Given the description of an element on the screen output the (x, y) to click on. 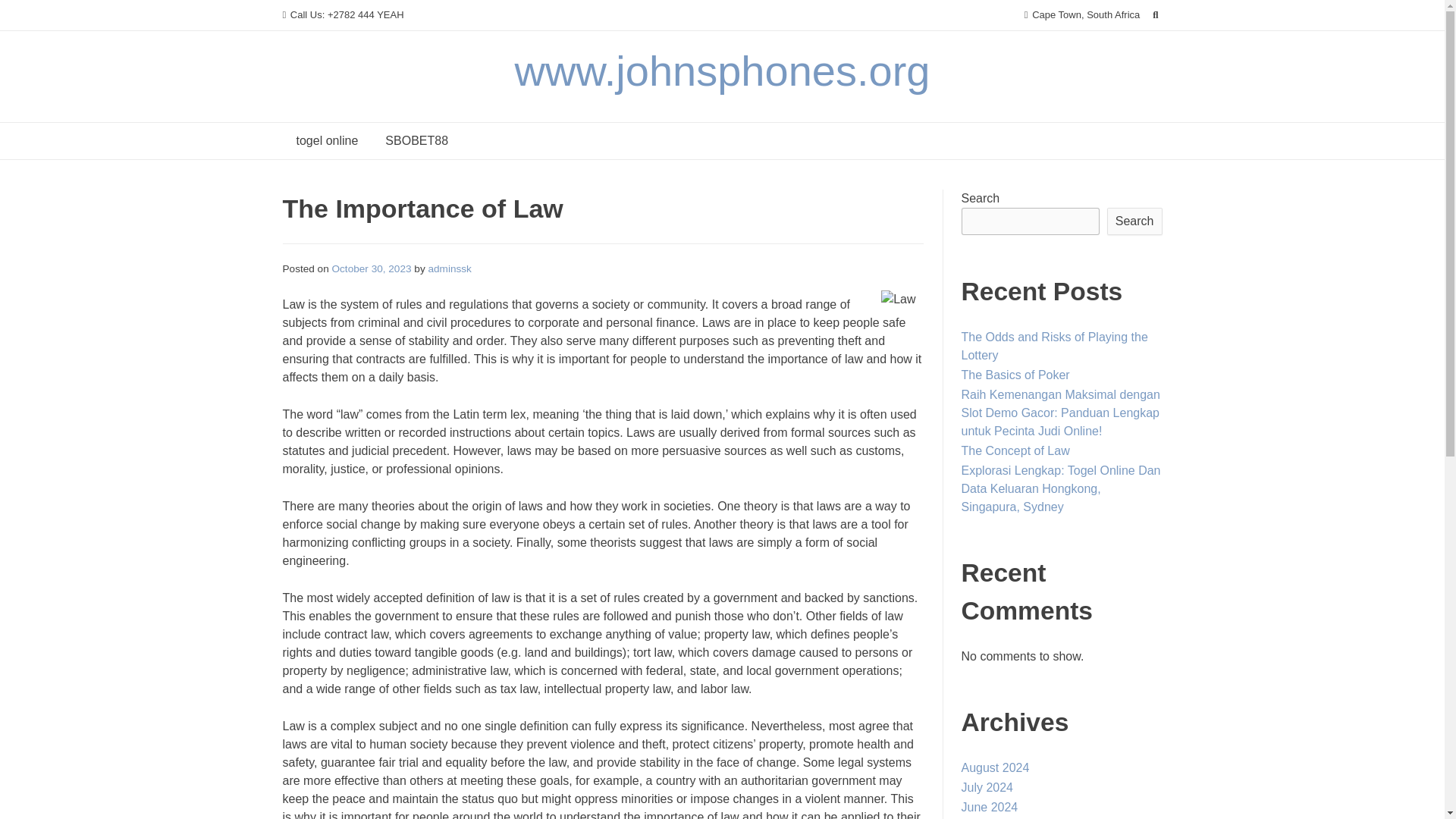
Search (27, 13)
togel online (326, 140)
October 30, 2023 (371, 268)
The Basics of Poker (1015, 374)
Search (1133, 221)
The Concept of Law (1015, 450)
SBOBET88 (416, 140)
www.johnsphones.org (722, 70)
June 2024 (988, 807)
August 2024 (994, 767)
July 2024 (986, 787)
The Odds and Risks of Playing the Lottery (1054, 345)
adminssk (449, 268)
